Given the description of an element on the screen output the (x, y) to click on. 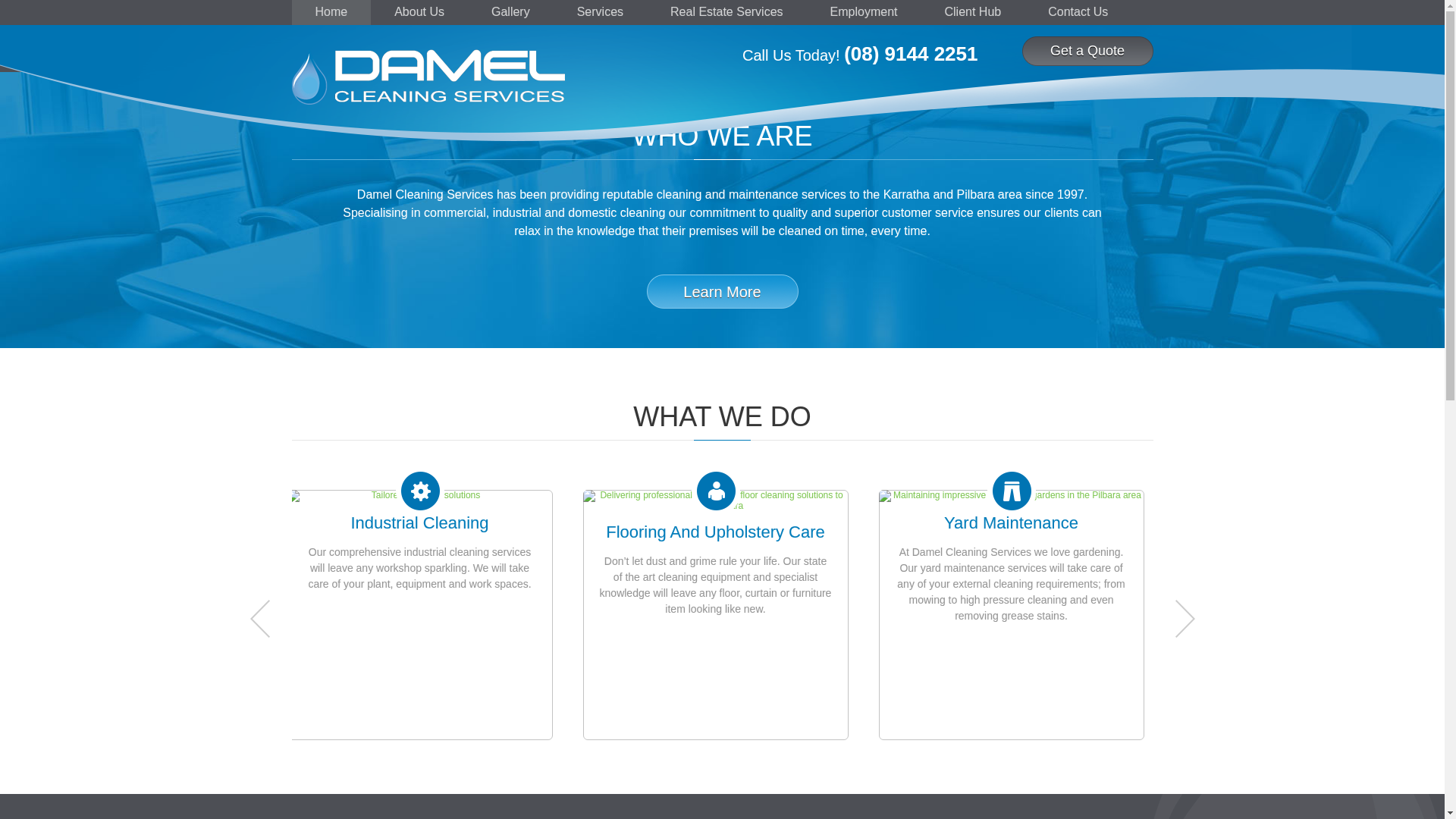
Contact Us Element type: text (1077, 12)
About Us Element type: text (418, 12)
Maintaining impressive lawns and gardens in the Pilbara area Element type: hover (1010, 495)
Tailored work site solutions Element type: hover (419, 495)
Real Estate Services Element type: text (726, 12)
Services Element type: text (599, 12)
Client Hub Element type: text (972, 12)
Previous Element type: text (259, 618)
cleaning and maintenance services Element type: text (751, 194)
Learn More Element type: text (721, 291)
Next Element type: text (1185, 618)
Get a Quote Element type: text (1087, 50)
Damel Cleaning Services Element type: hover (427, 76)
Employment Element type: text (863, 12)
Home Element type: text (330, 12)
Gallery Element type: text (510, 12)
